Given the description of an element on the screen output the (x, y) to click on. 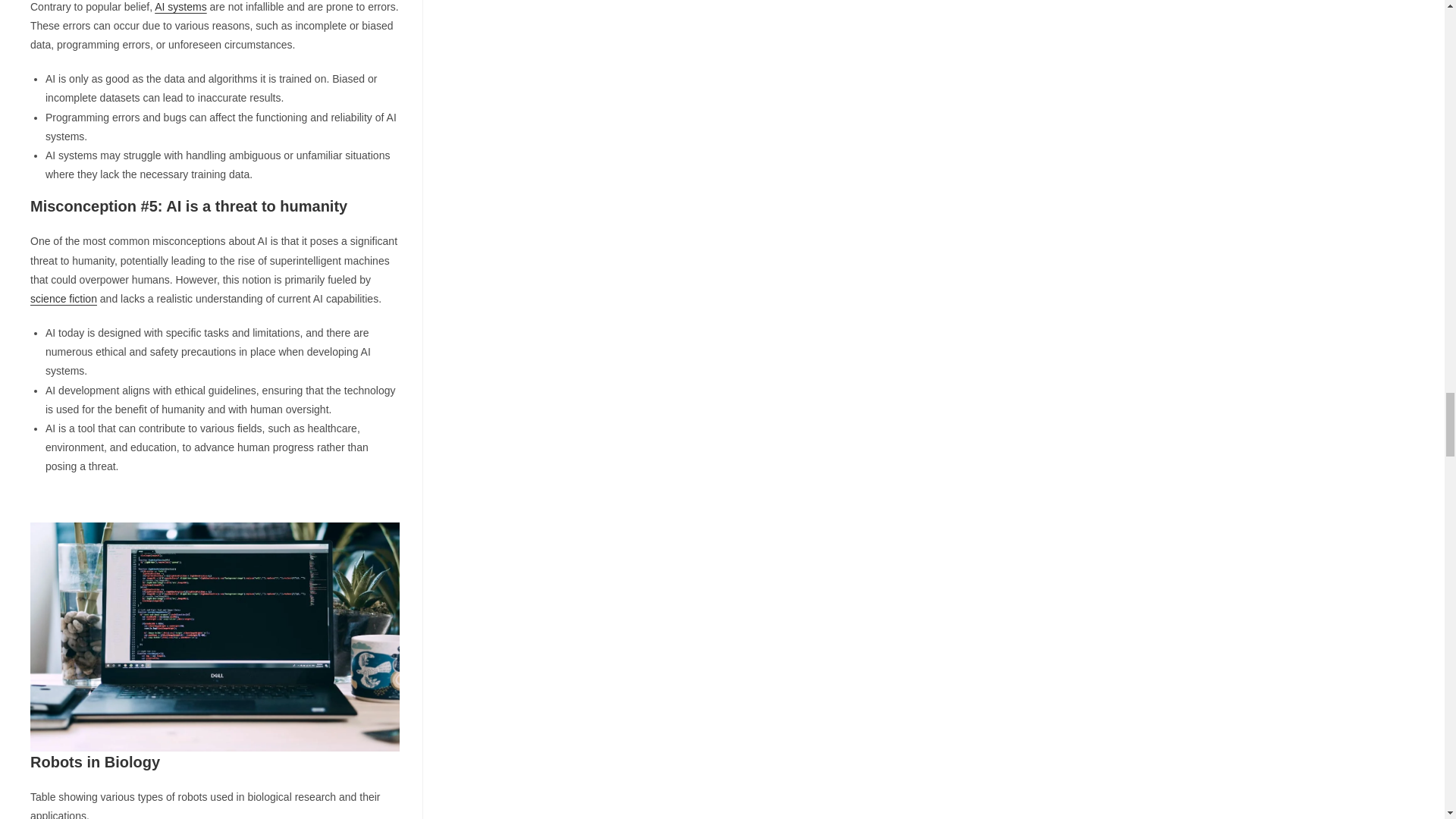
AI Project for Science Fair (214, 636)
science fiction (63, 298)
AI systems (180, 6)
